Given the description of an element on the screen output the (x, y) to click on. 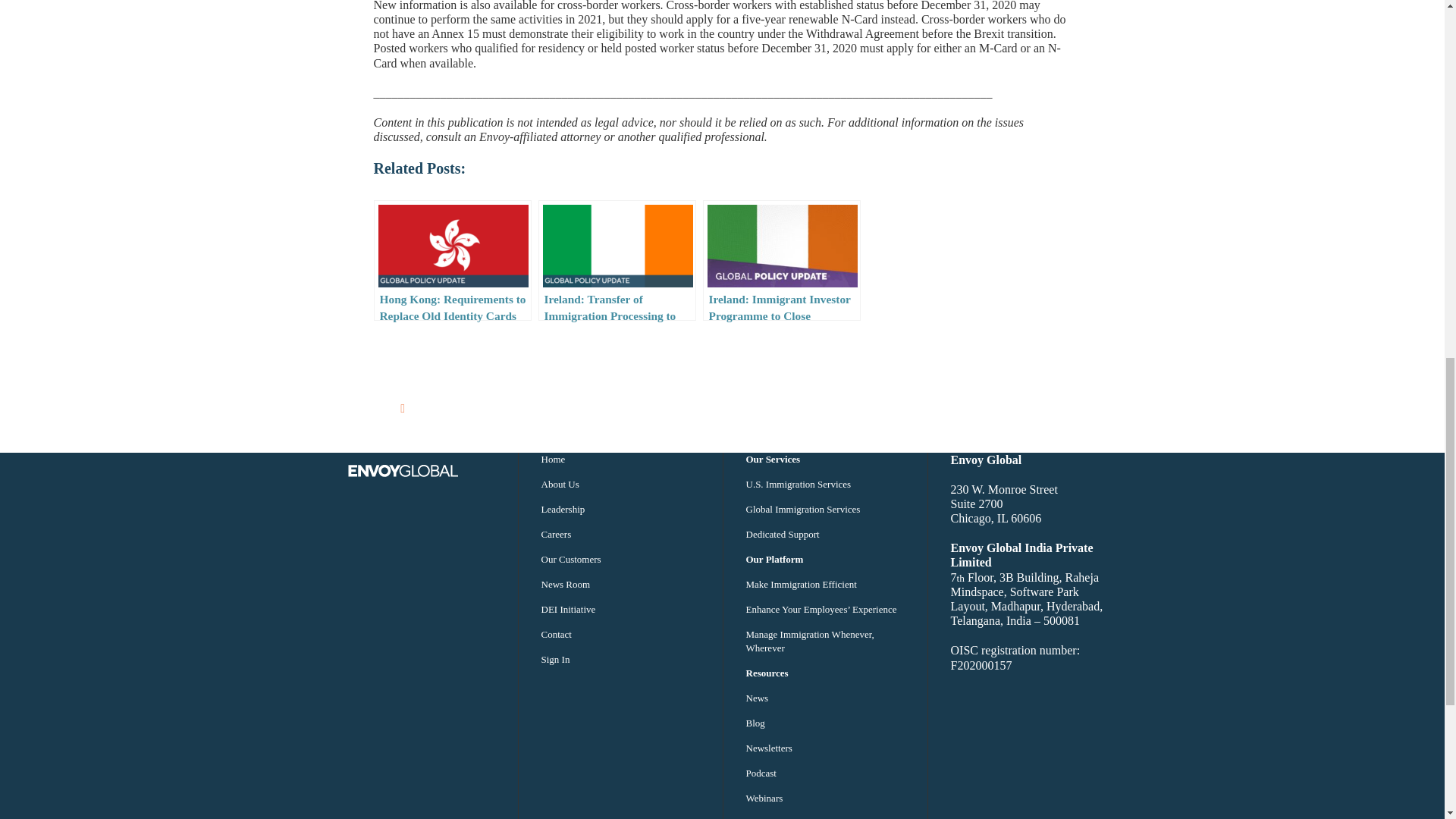
Ireland: Transfer of Immigration Processing to Dublin (616, 260)
Hong Kong: Requirements to Replace Old Identity Cards (451, 260)
Ireland: Immigrant Investor Programme to Close (780, 260)
